Given the description of an element on the screen output the (x, y) to click on. 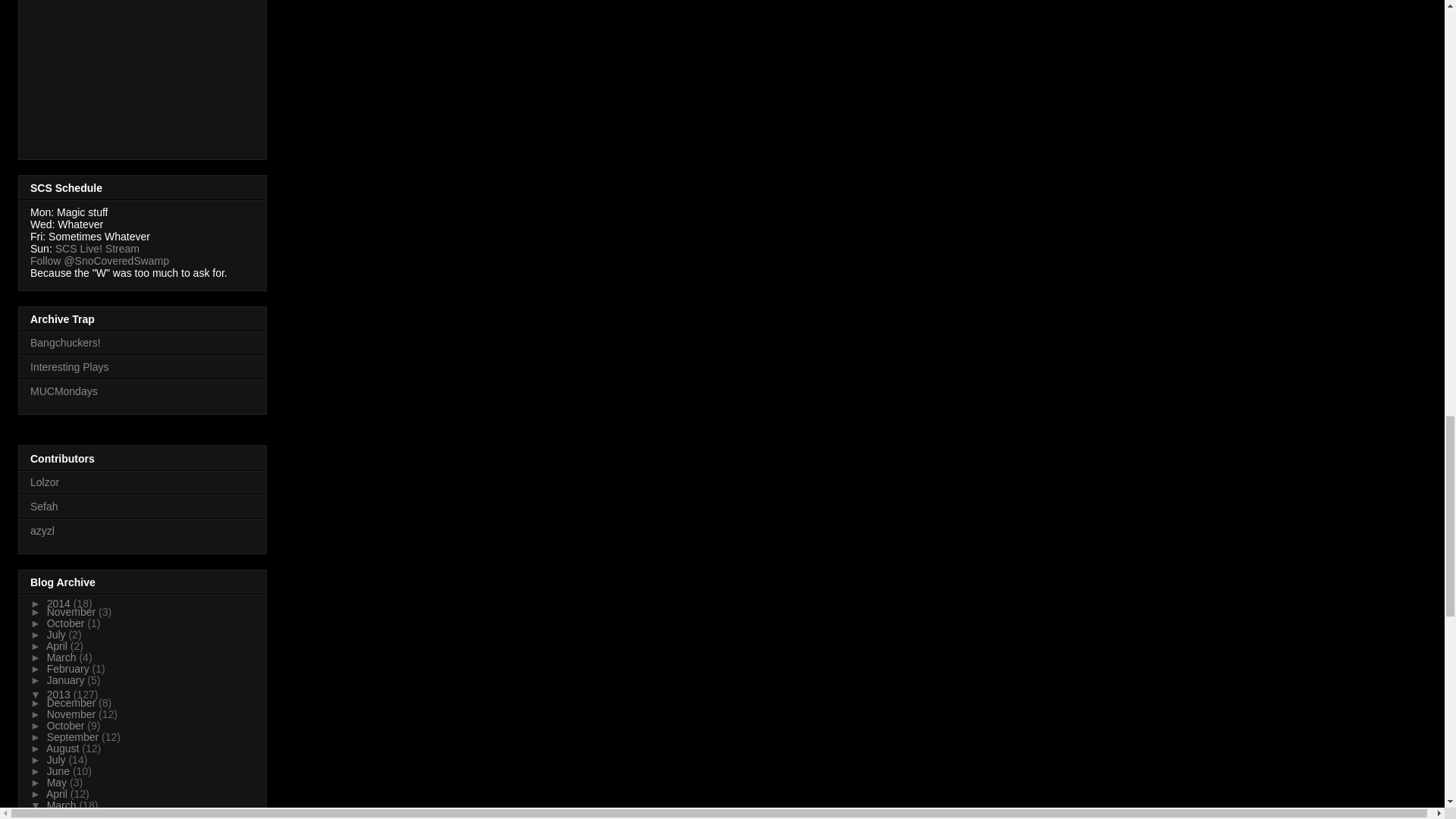
July (57, 634)
2014 (60, 603)
Bangchuckers! (65, 342)
Sefah (44, 506)
azyzl (42, 530)
November (72, 612)
Lolzor (44, 481)
October (66, 623)
MUCMondays (63, 390)
SCS Live! Stream (97, 248)
Interesting Plays (69, 367)
April (57, 645)
